Given the description of an element on the screen output the (x, y) to click on. 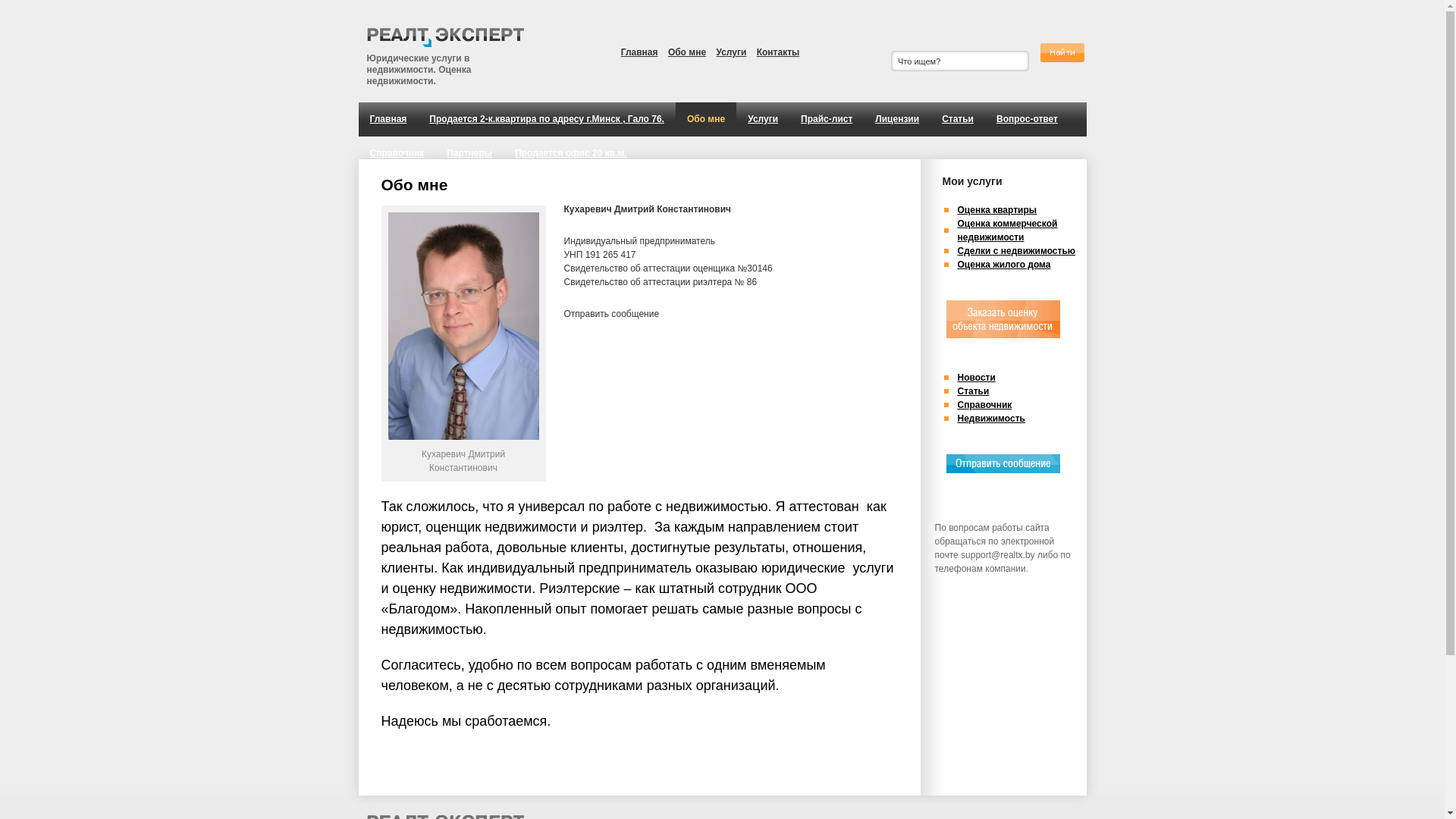
Photo_Kuharevich Element type: hover (463, 325)
